Given the description of an element on the screen output the (x, y) to click on. 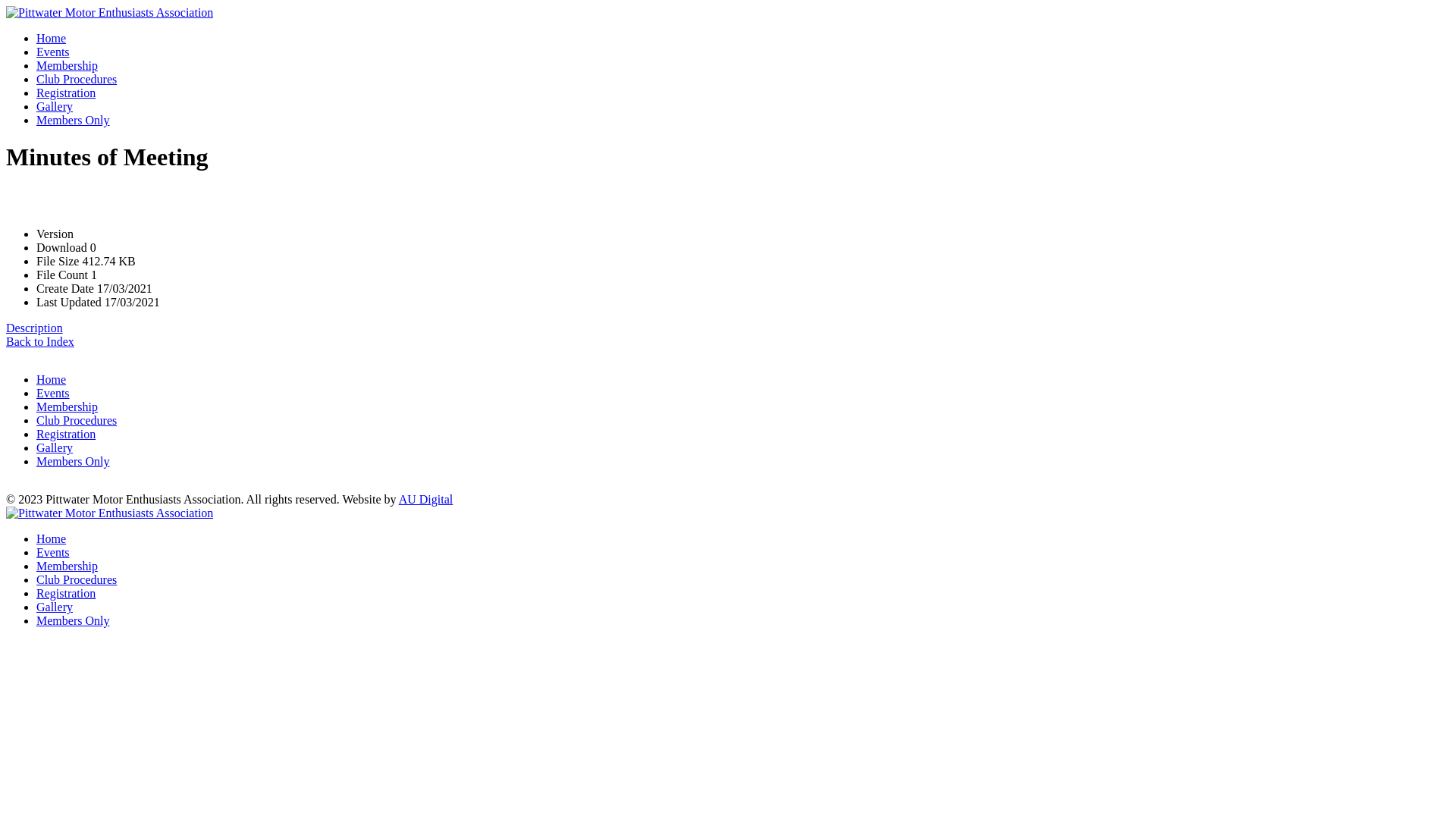
Events Element type: text (52, 51)
Members Only Element type: text (72, 620)
Club Procedures Element type: text (76, 78)
Home Element type: text (50, 37)
Gallery Element type: text (54, 606)
Membership Element type: text (66, 406)
Events Element type: text (52, 392)
Registration Element type: text (65, 433)
Gallery Element type: text (54, 447)
Members Only Element type: text (72, 119)
Registration Element type: text (65, 92)
Home Element type: text (50, 538)
Members Only Element type: text (72, 461)
Description Element type: text (34, 327)
Gallery Element type: text (54, 106)
Registration Element type: text (65, 592)
Club Procedures Element type: text (76, 420)
Membership Element type: text (66, 565)
Home Element type: text (50, 379)
Club Procedures Element type: text (76, 579)
Back to Index Element type: text (40, 341)
Events Element type: text (52, 552)
AU Digital Element type: text (425, 498)
Membership Element type: text (66, 65)
